Given the description of an element on the screen output the (x, y) to click on. 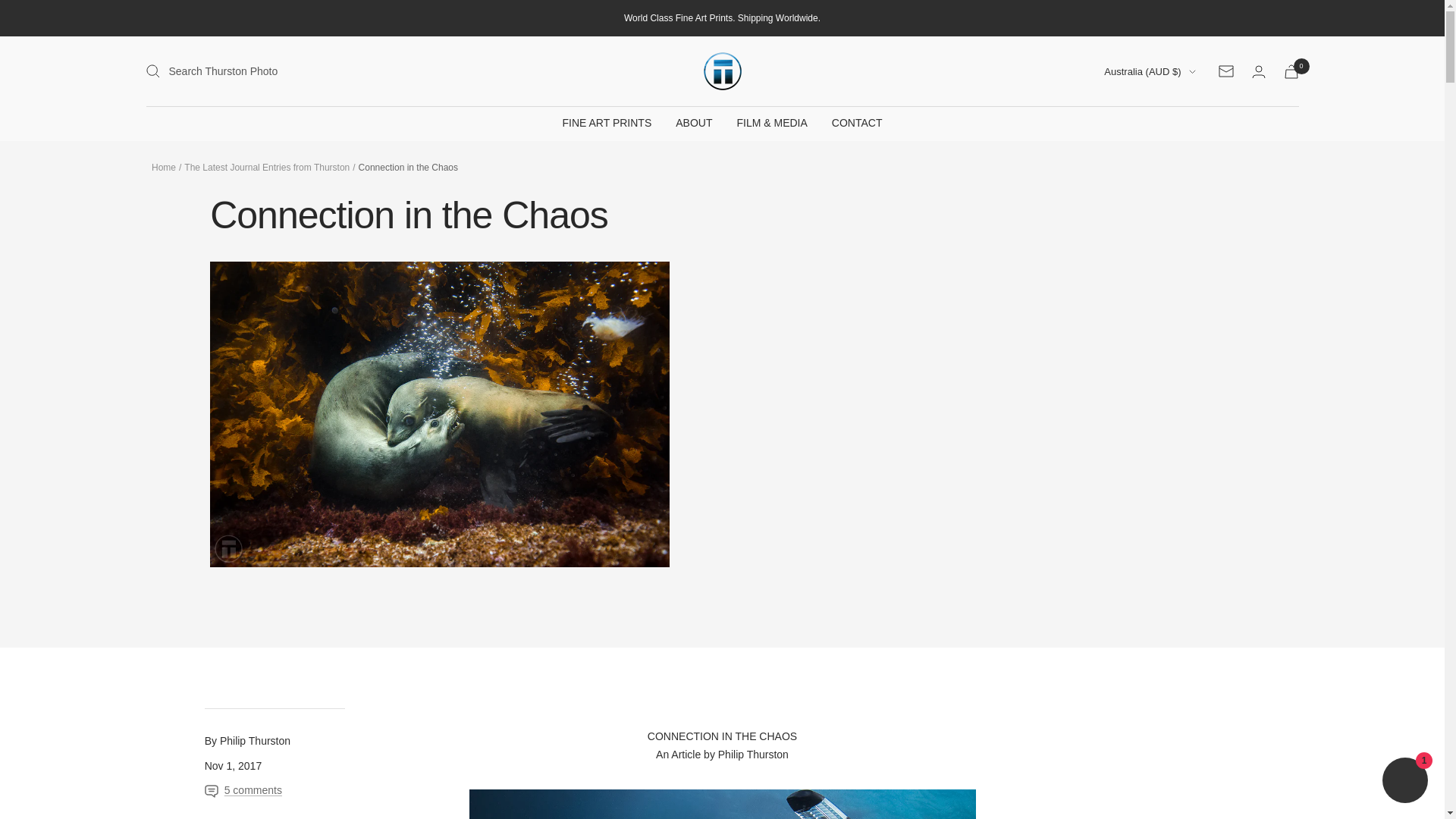
AT (1053, 430)
BD (1053, 525)
AX (1053, 146)
AL (1053, 169)
IO (1053, 809)
BJ (1053, 643)
BT (1053, 691)
AR (1053, 312)
Thurston Photo (722, 71)
DZ (1053, 193)
AZ (1053, 454)
BY (1053, 573)
BH (1053, 502)
BB (1053, 548)
Shopify online store chat (1404, 781)
